Given the description of an element on the screen output the (x, y) to click on. 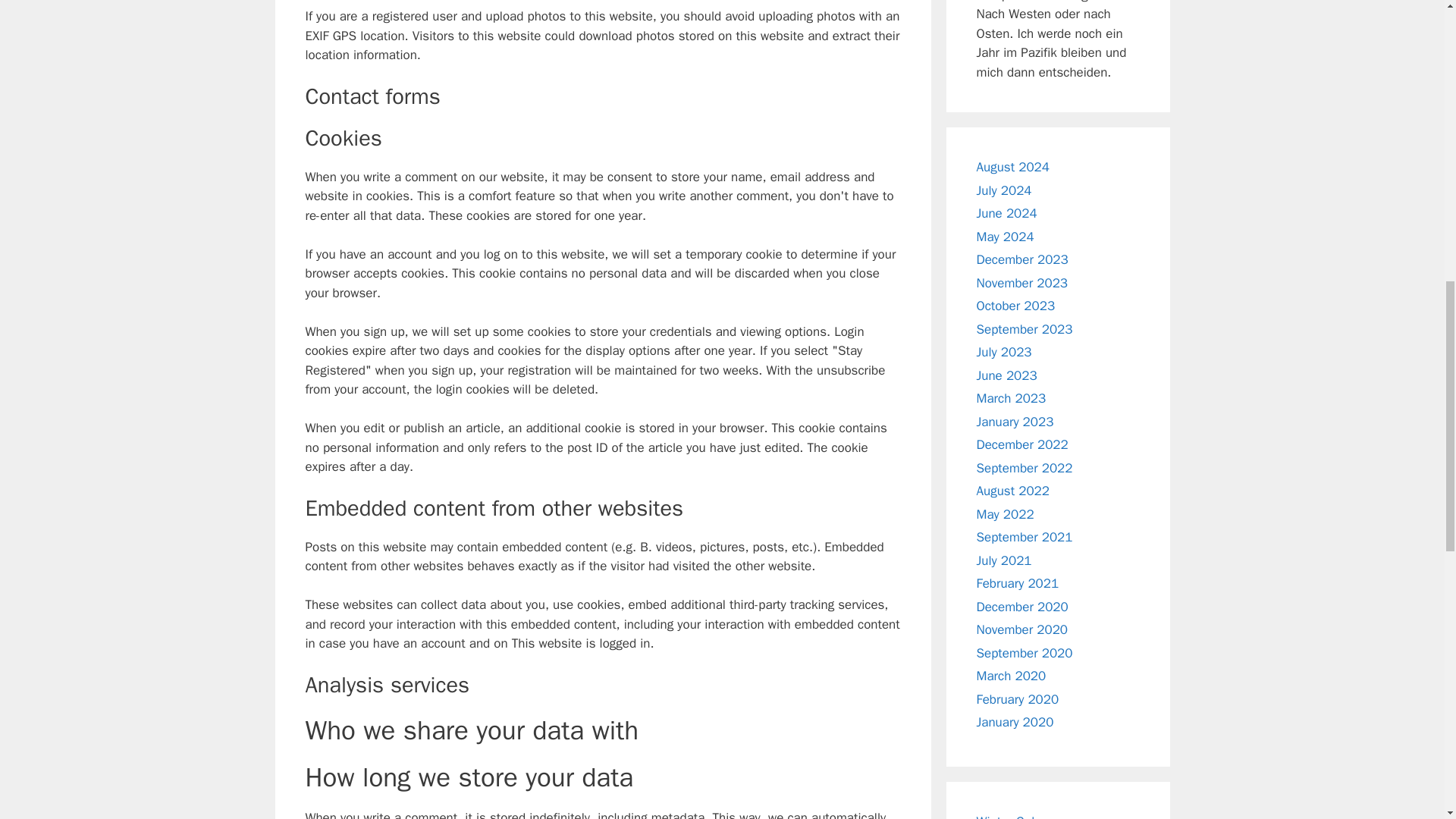
July 2024 (1004, 190)
July 2023 (1004, 351)
March 2023 (1011, 398)
February 2021 (1017, 583)
March 2020 (1011, 675)
December 2022 (1022, 444)
October 2023 (1015, 305)
September 2020 (1024, 652)
September 2021 (1024, 537)
November 2020 (1022, 629)
